Given the description of an element on the screen output the (x, y) to click on. 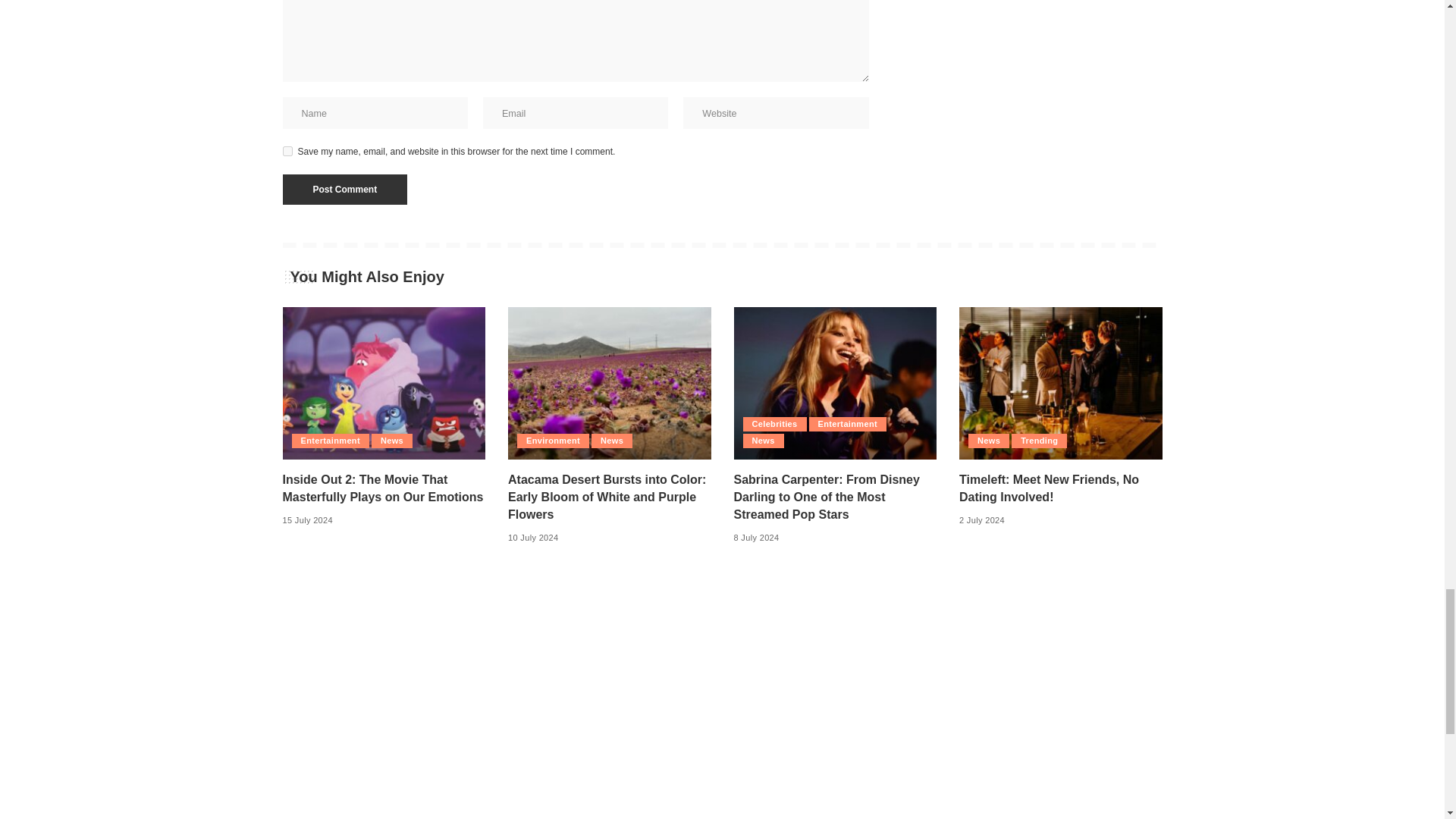
Post Comment (344, 189)
yes (287, 151)
